Given the description of an element on the screen output the (x, y) to click on. 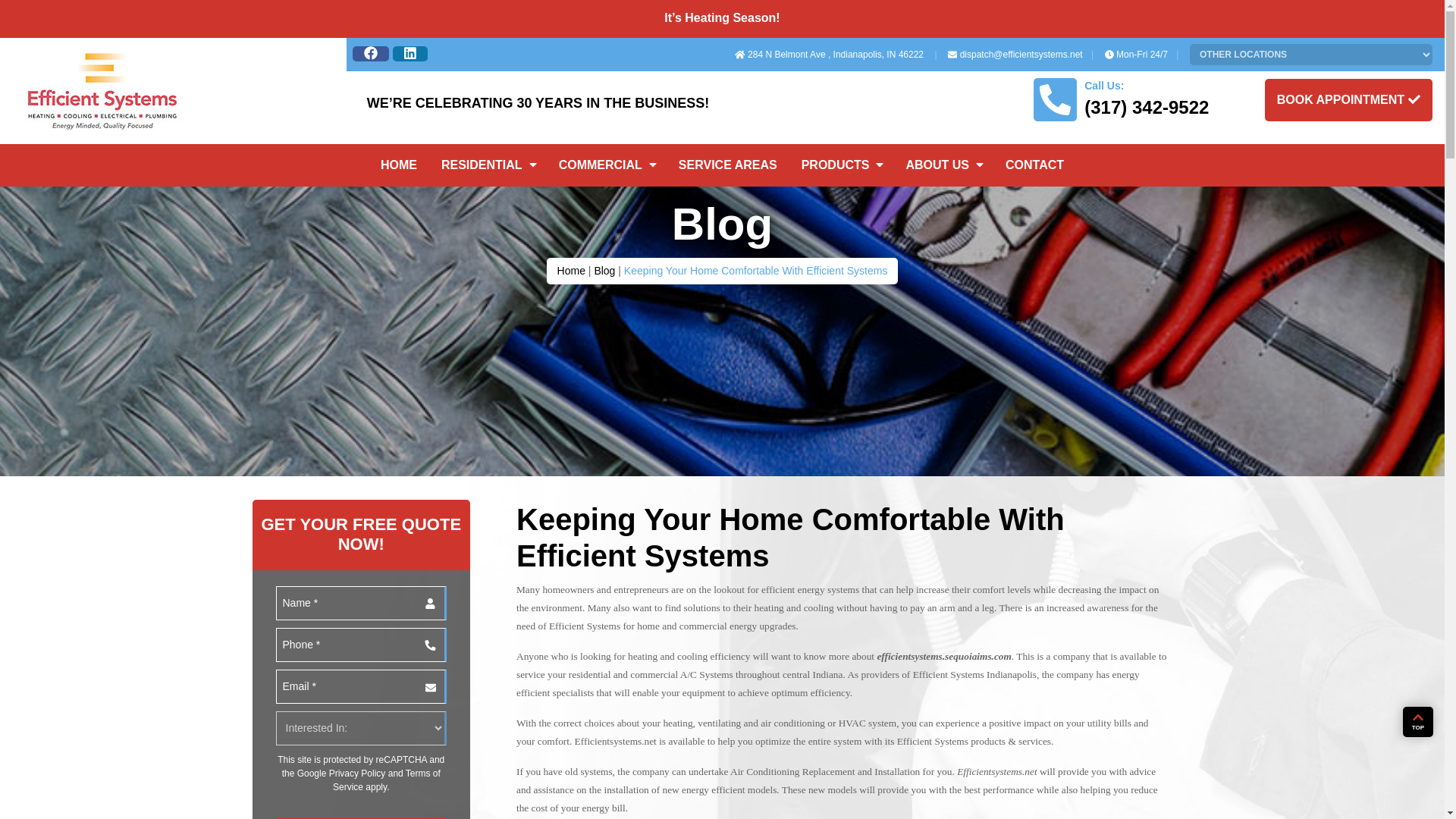
Efficient Systems, Inc, Indianapolis, IN (102, 90)
Home (571, 270)
ABOUT US (942, 169)
CONTACT (1033, 165)
SERVICE AREAS (727, 152)
COMMERCIAL (606, 261)
PRODUCTS (841, 159)
BOOK APPOINTMENT (1336, 96)
Blog (604, 270)
